Given the description of an element on the screen output the (x, y) to click on. 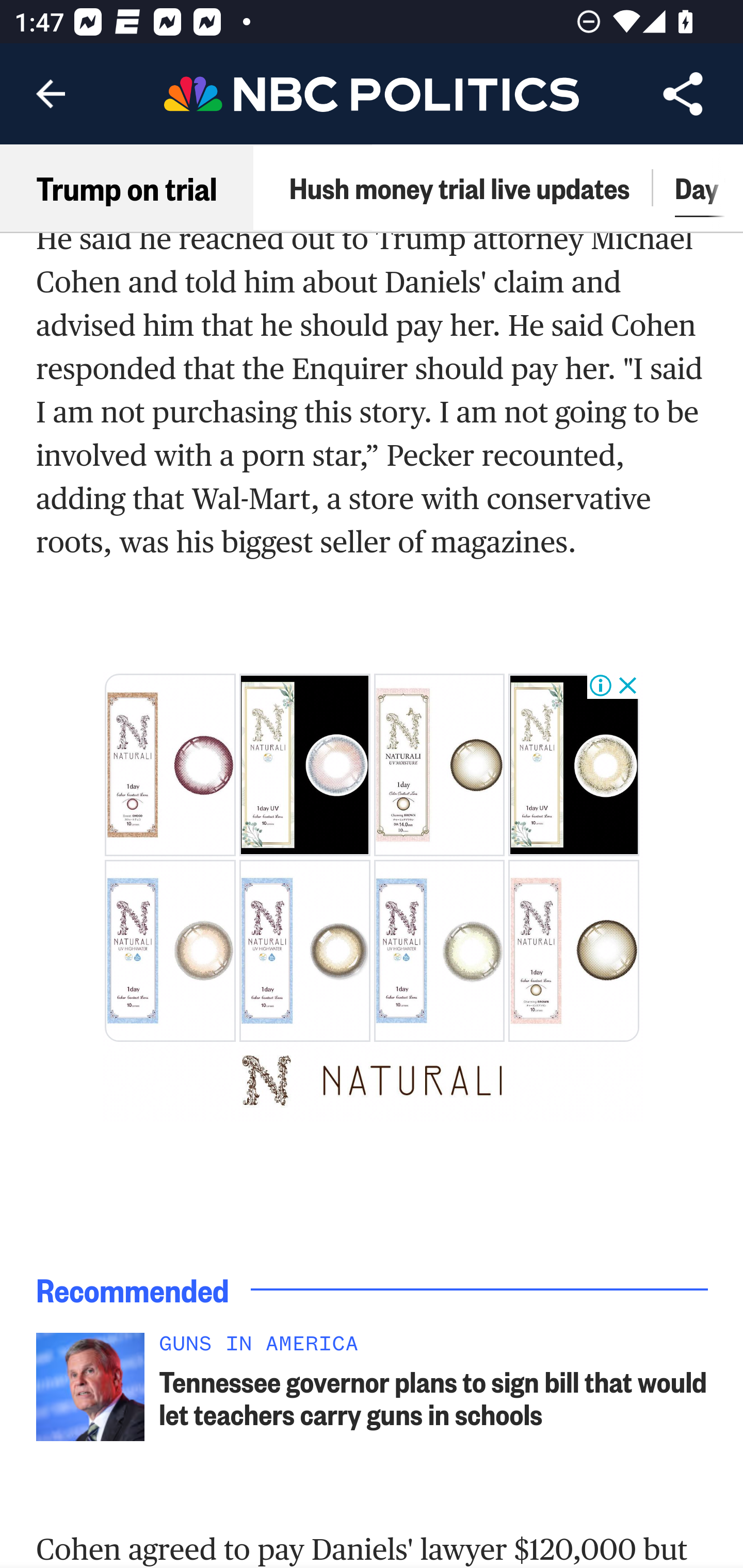
Navigate up (50, 93)
Share Article, button (683, 94)
Header, NBC Politics (371, 93)
Trump on trial (127, 187)
Hush money trial live updates (459, 187)
GUNS IN AMERICA (434, 1347)
